Given the description of an element on the screen output the (x, y) to click on. 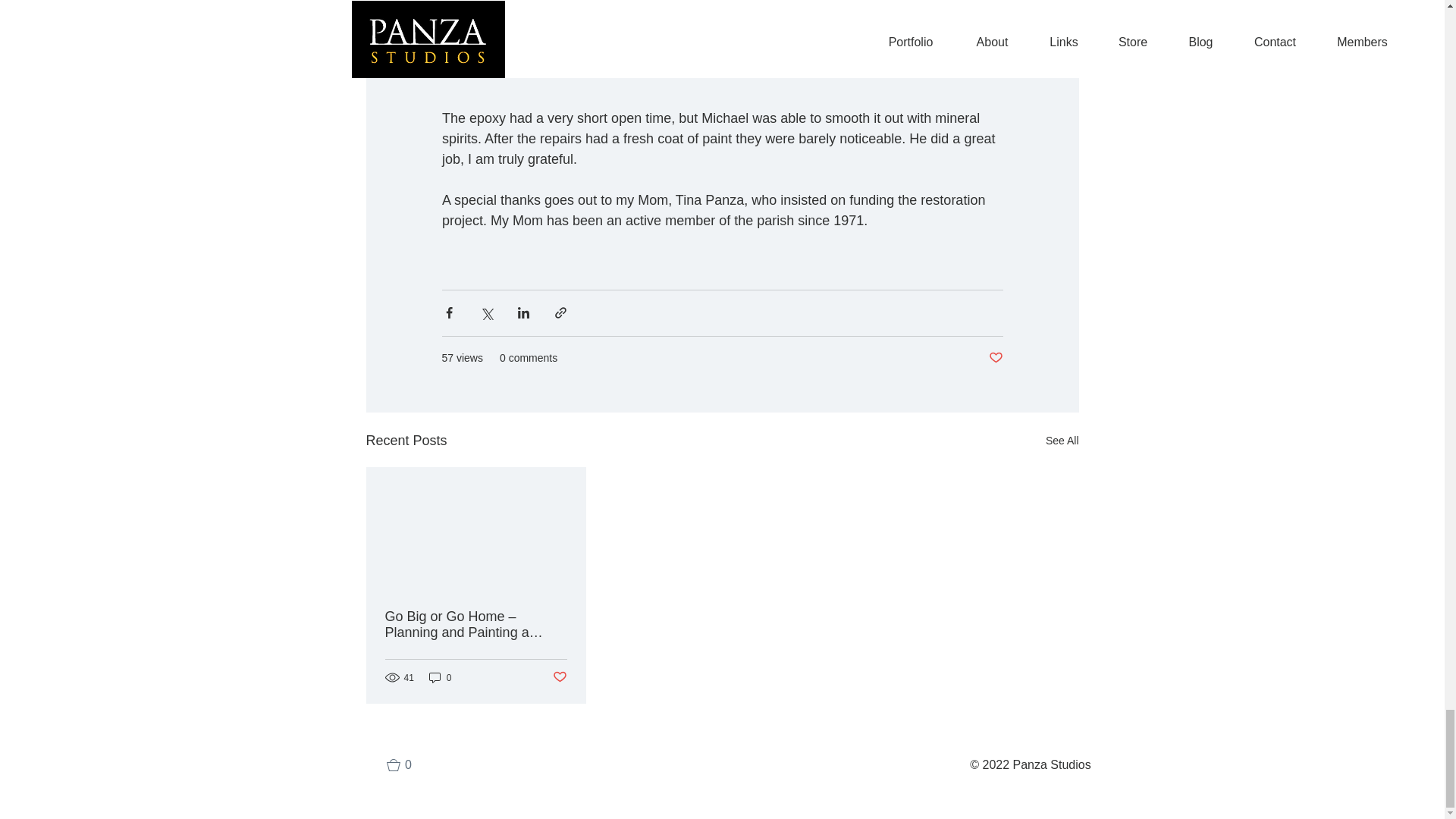
Post not marked as liked (995, 358)
0 (440, 677)
Post not marked as liked (558, 677)
See All (1061, 440)
